Given the description of an element on the screen output the (x, y) to click on. 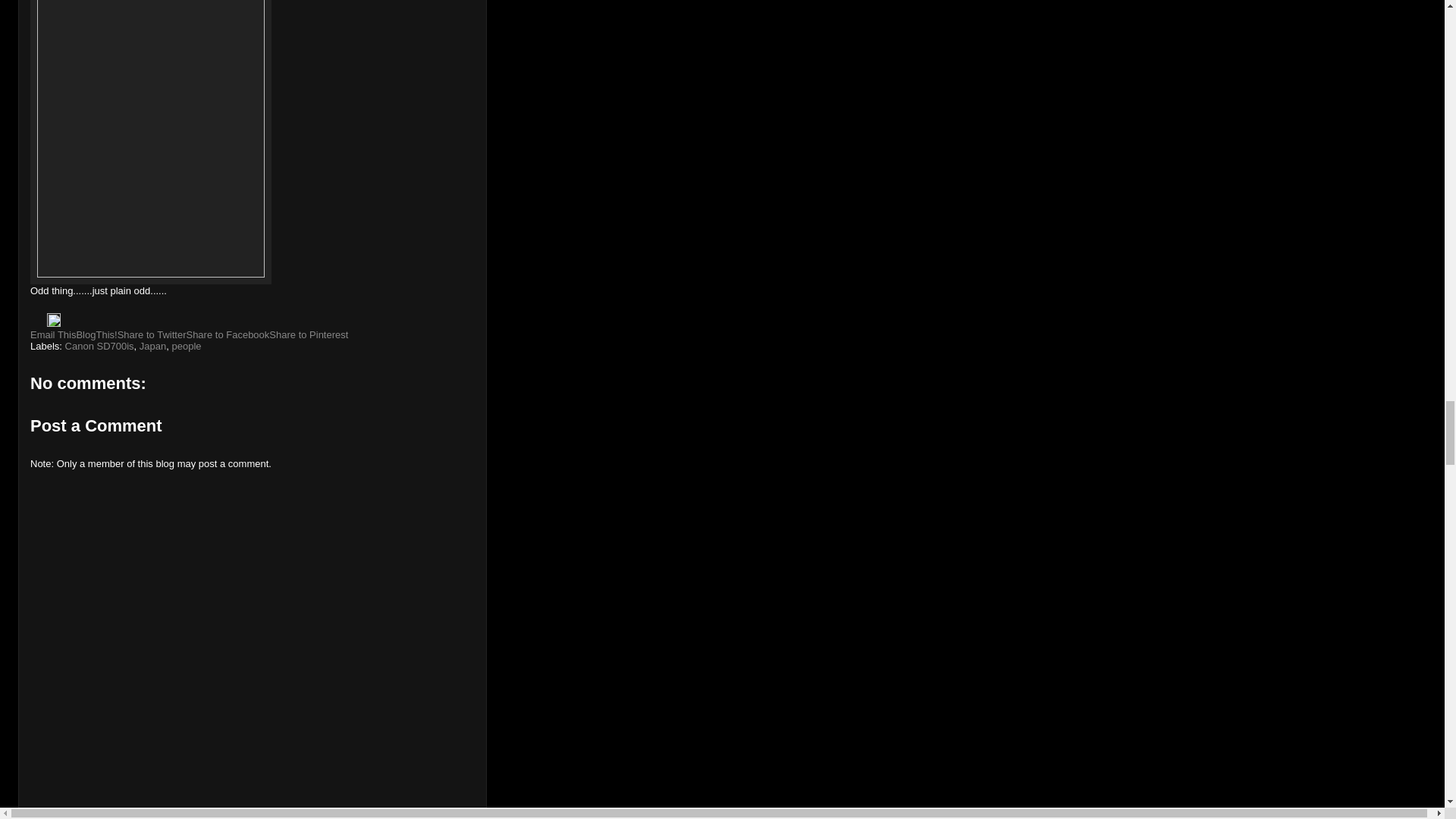
Email Post (38, 323)
BlogThis! (95, 334)
Japan (152, 346)
BlogThis! (95, 334)
Share to Twitter (151, 334)
Share to Twitter (151, 334)
Share to Facebook (227, 334)
Share to Facebook (227, 334)
Edit Post (53, 323)
people (185, 346)
Email This (52, 334)
Share to Pinterest (308, 334)
Canon SD700is (99, 346)
Email This (52, 334)
Share to Pinterest (308, 334)
